Given the description of an element on the screen output the (x, y) to click on. 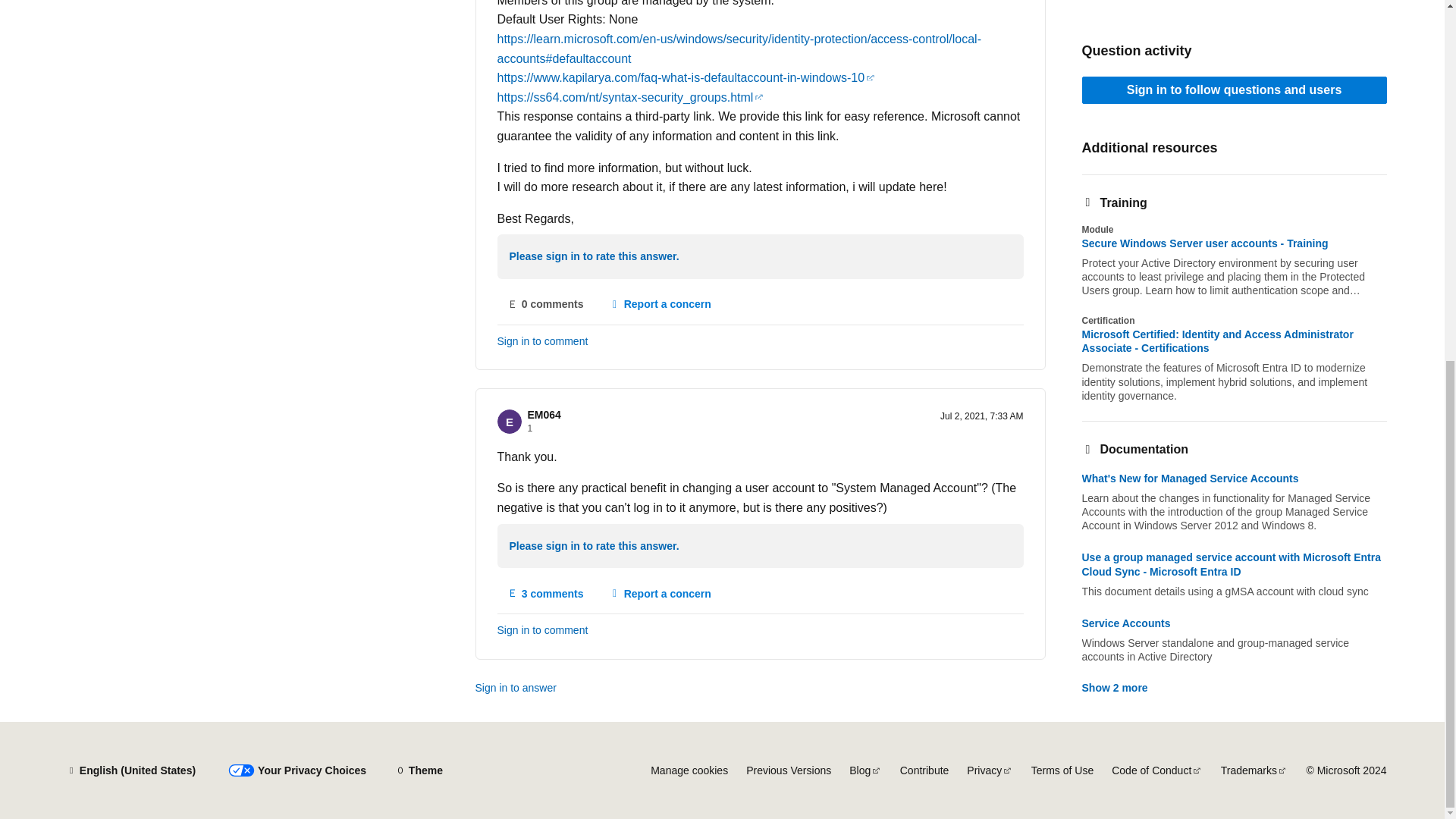
No comments (545, 304)
Please sign in to rate this answer. (594, 256)
EM064 (543, 414)
Report a concern (659, 304)
Report a concern (545, 593)
Report a concern (659, 593)
Please sign in to rate this answer. (659, 593)
Report a concern (594, 546)
Show comments for this answer (659, 304)
Sign in to comment (545, 593)
